Given the description of an element on the screen output the (x, y) to click on. 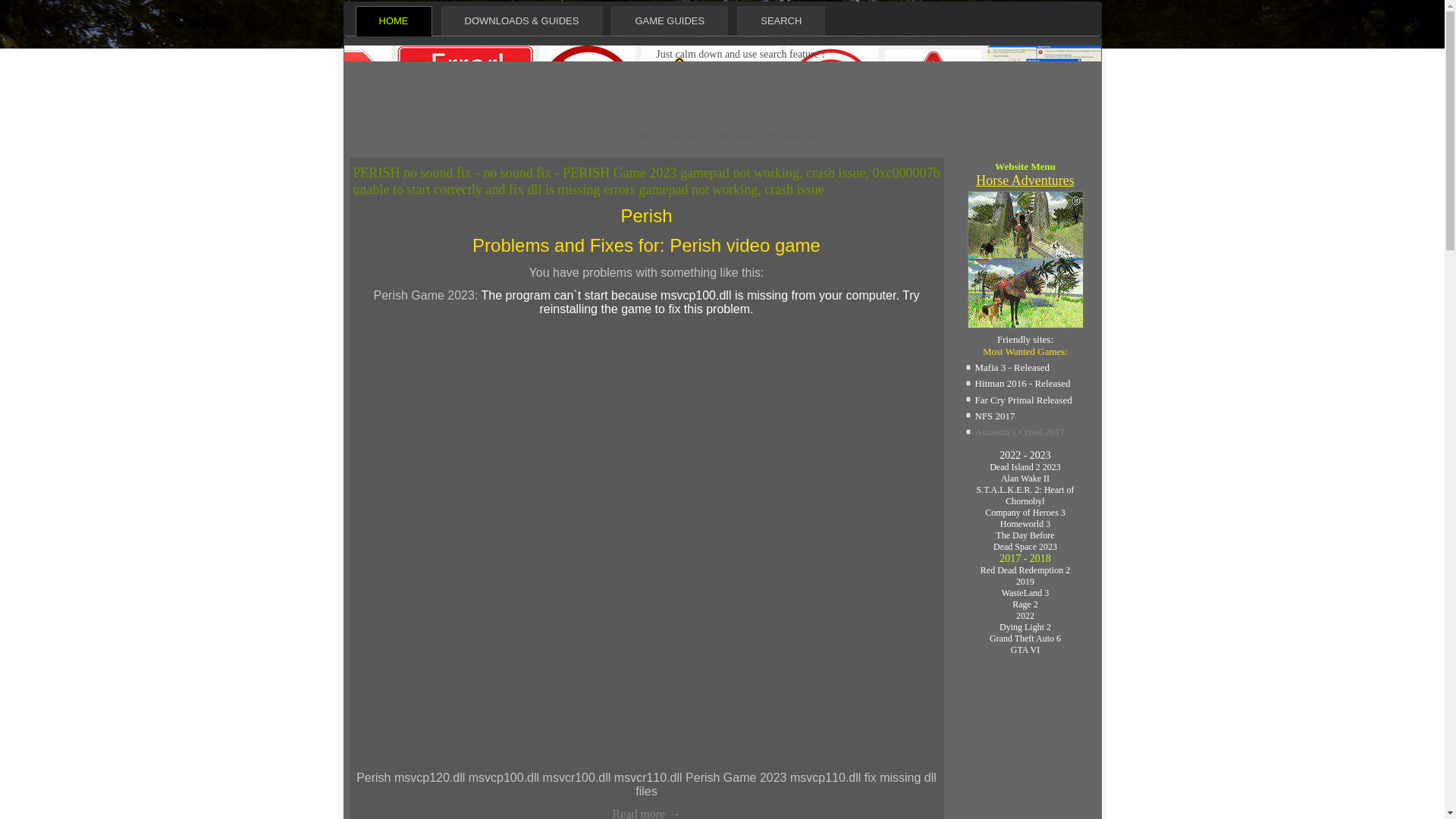
play store (1024, 180)
HOME (392, 20)
Horse Adventures for Android (1023, 327)
